Given the description of an element on the screen output the (x, y) to click on. 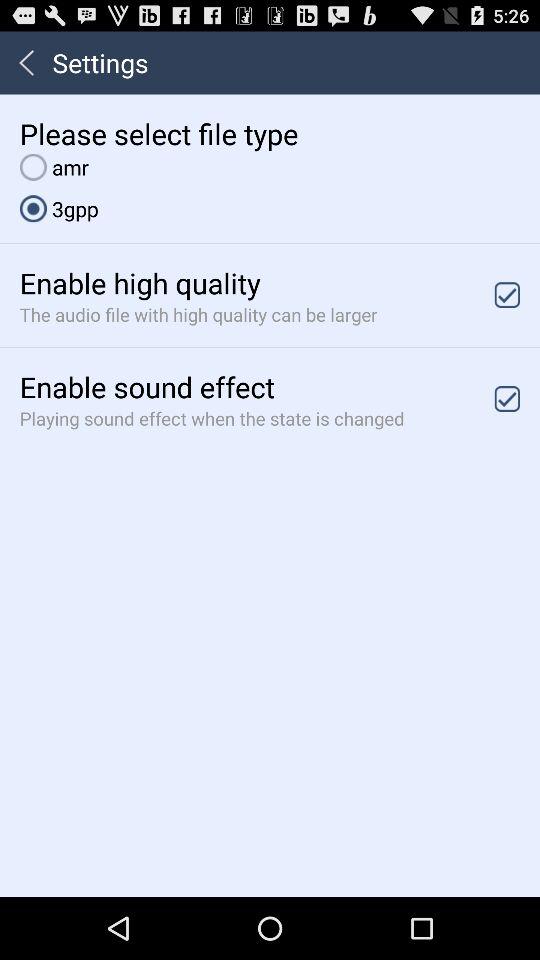
choose the item next to the the audio file app (507, 294)
